Given the description of an element on the screen output the (x, y) to click on. 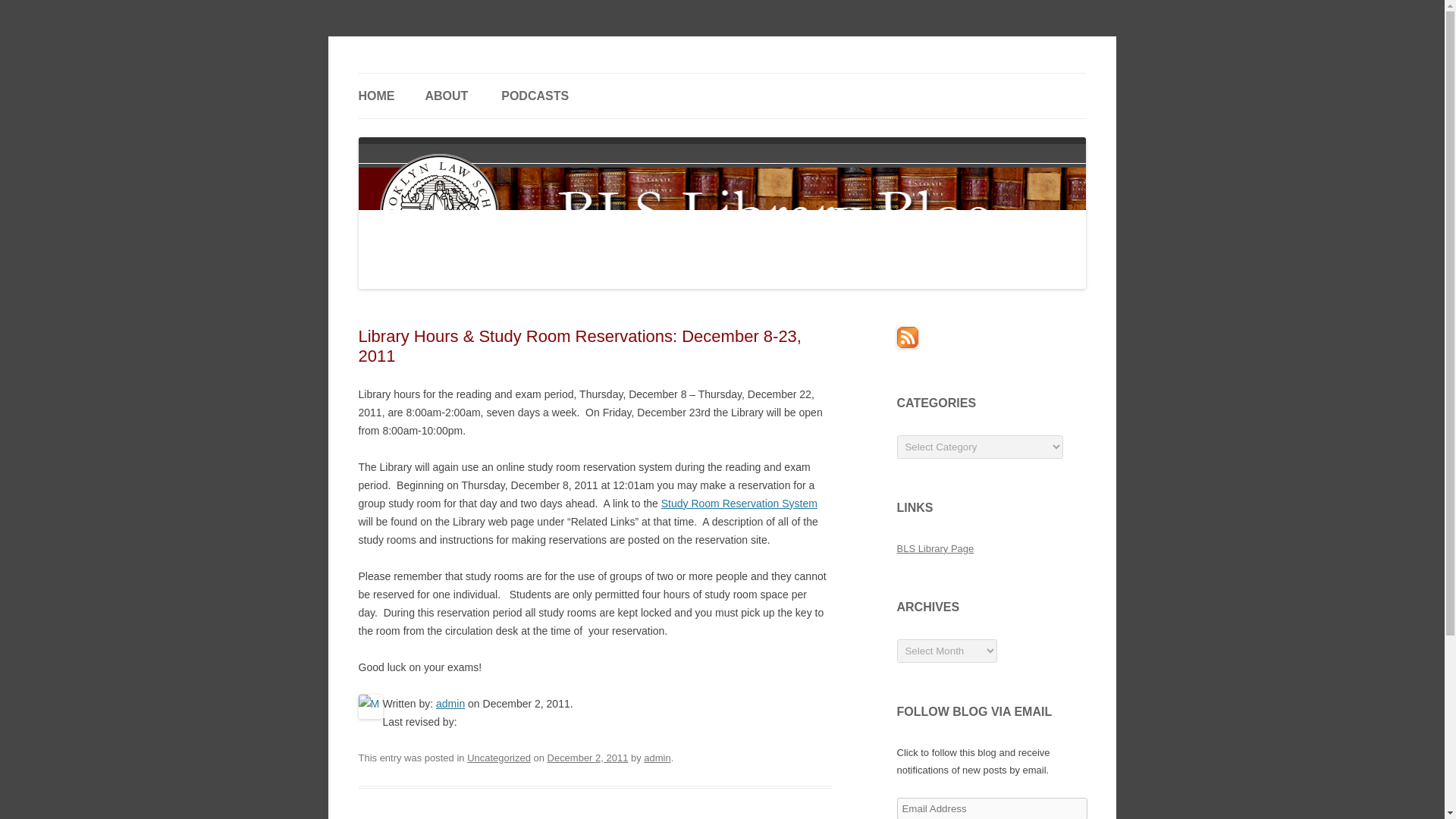
Subscribe to posts (906, 344)
View all posts by admin (656, 757)
December 2, 2011 (587, 757)
Study Room Reservation System (738, 503)
6:55 pm (587, 757)
ABOUT (446, 95)
BLS Library Blog (438, 72)
admin (656, 757)
HOME (376, 95)
BLS Library Blog (438, 72)
BLS Library Page (935, 548)
admin (449, 703)
More about admin  (449, 703)
Uncategorized (499, 757)
PODCASTS (534, 95)
